Given the description of an element on the screen output the (x, y) to click on. 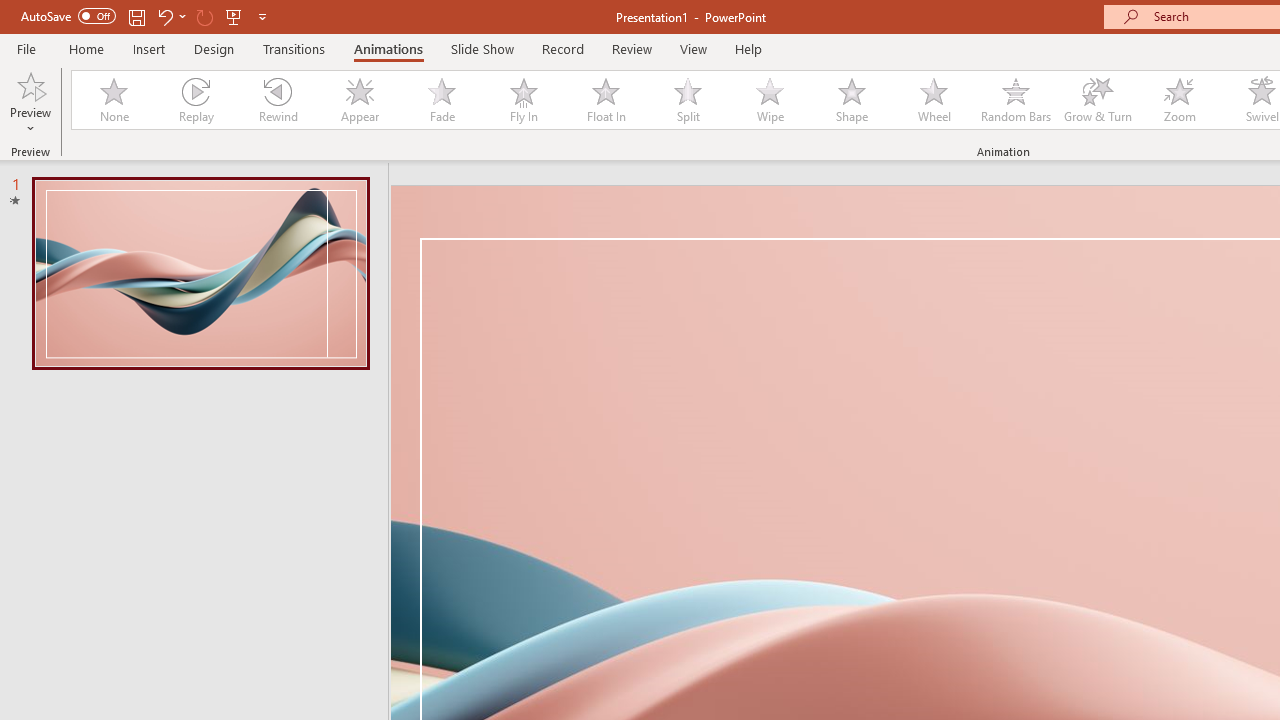
Fly In (523, 100)
Rewind (277, 100)
Wipe (770, 100)
Float In (605, 100)
